Given the description of an element on the screen output the (x, y) to click on. 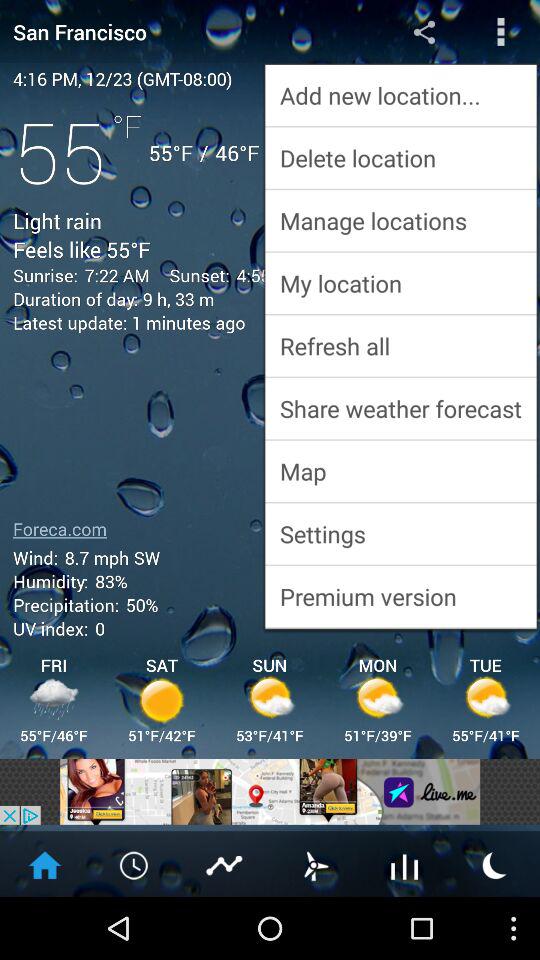
click manage locations item (400, 220)
